Given the description of an element on the screen output the (x, y) to click on. 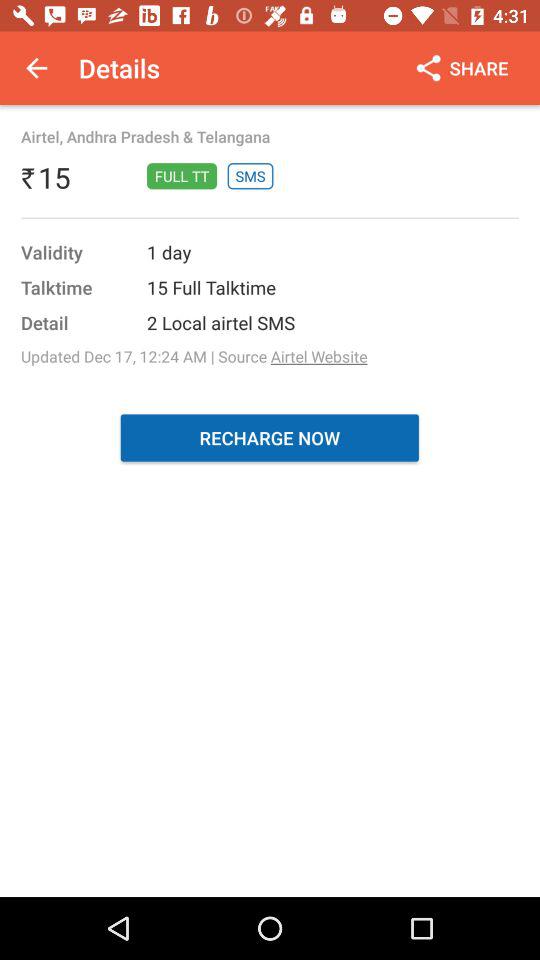
press the item above recharge now item (194, 356)
